Given the description of an element on the screen output the (x, y) to click on. 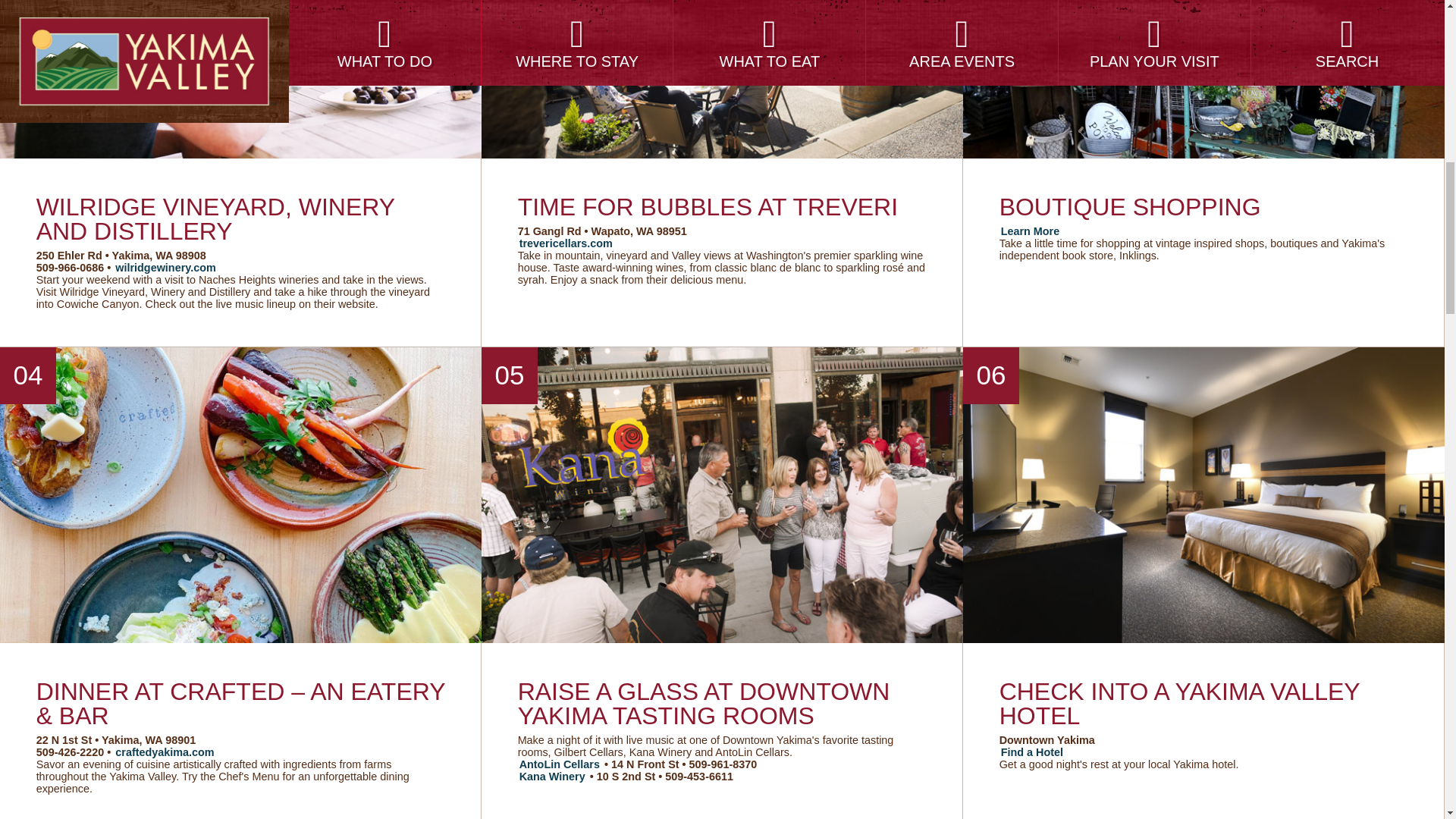
Find a Hotel (1031, 752)
Kana Winery (552, 775)
Kana Winery (552, 775)
craftedyakima.com (164, 752)
wilridgewinery.com (164, 267)
Boutique Shopping - Yakima Valley Wine Tasting Tour (1029, 231)
AntoLin Cellars (559, 764)
Downtown Yakima Hotels (1031, 752)
Learn More (1029, 231)
